Given the description of an element on the screen output the (x, y) to click on. 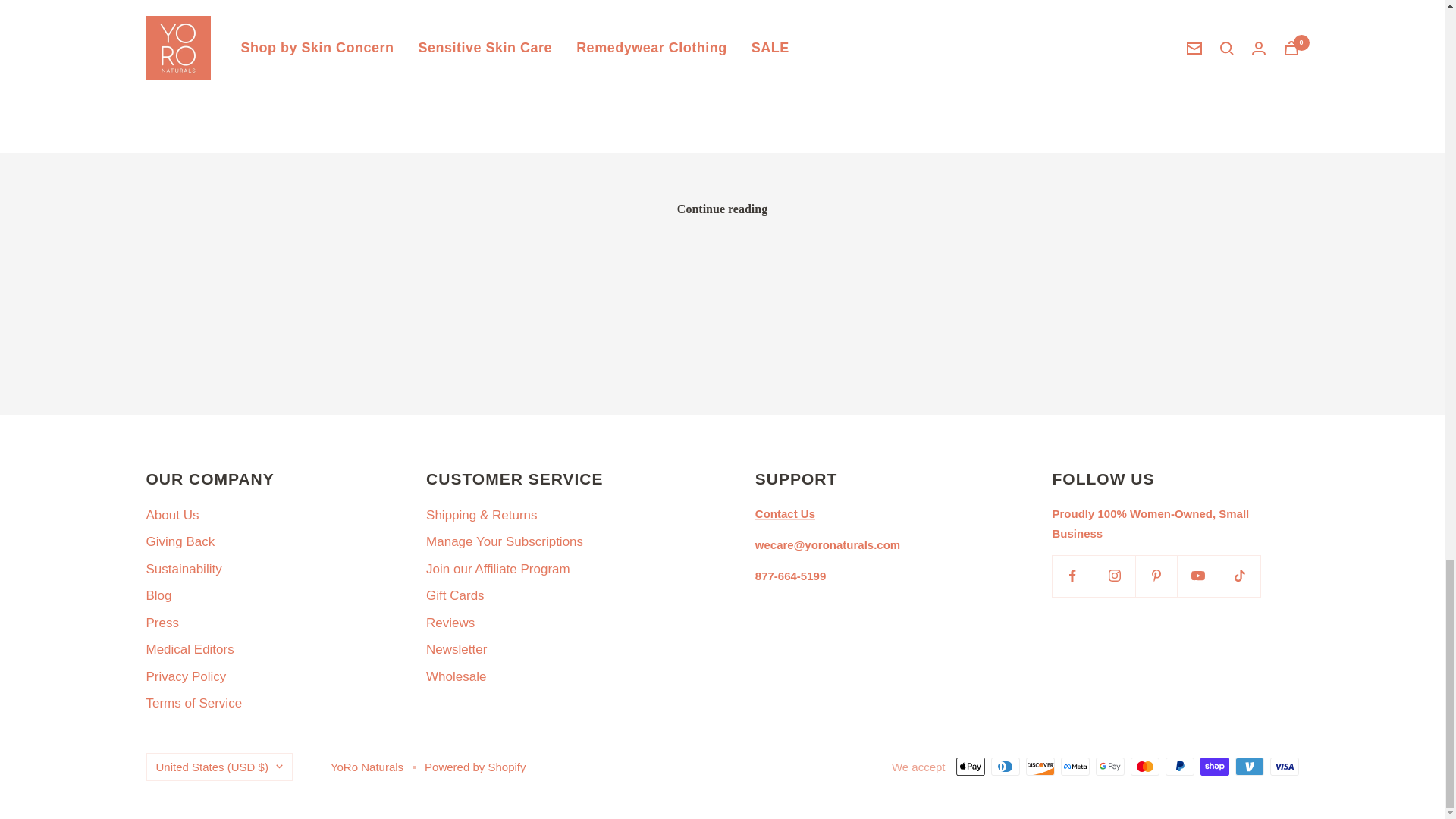
Contact Us (785, 513)
Giving Back (179, 541)
About Us (171, 515)
